Given the description of an element on the screen output the (x, y) to click on. 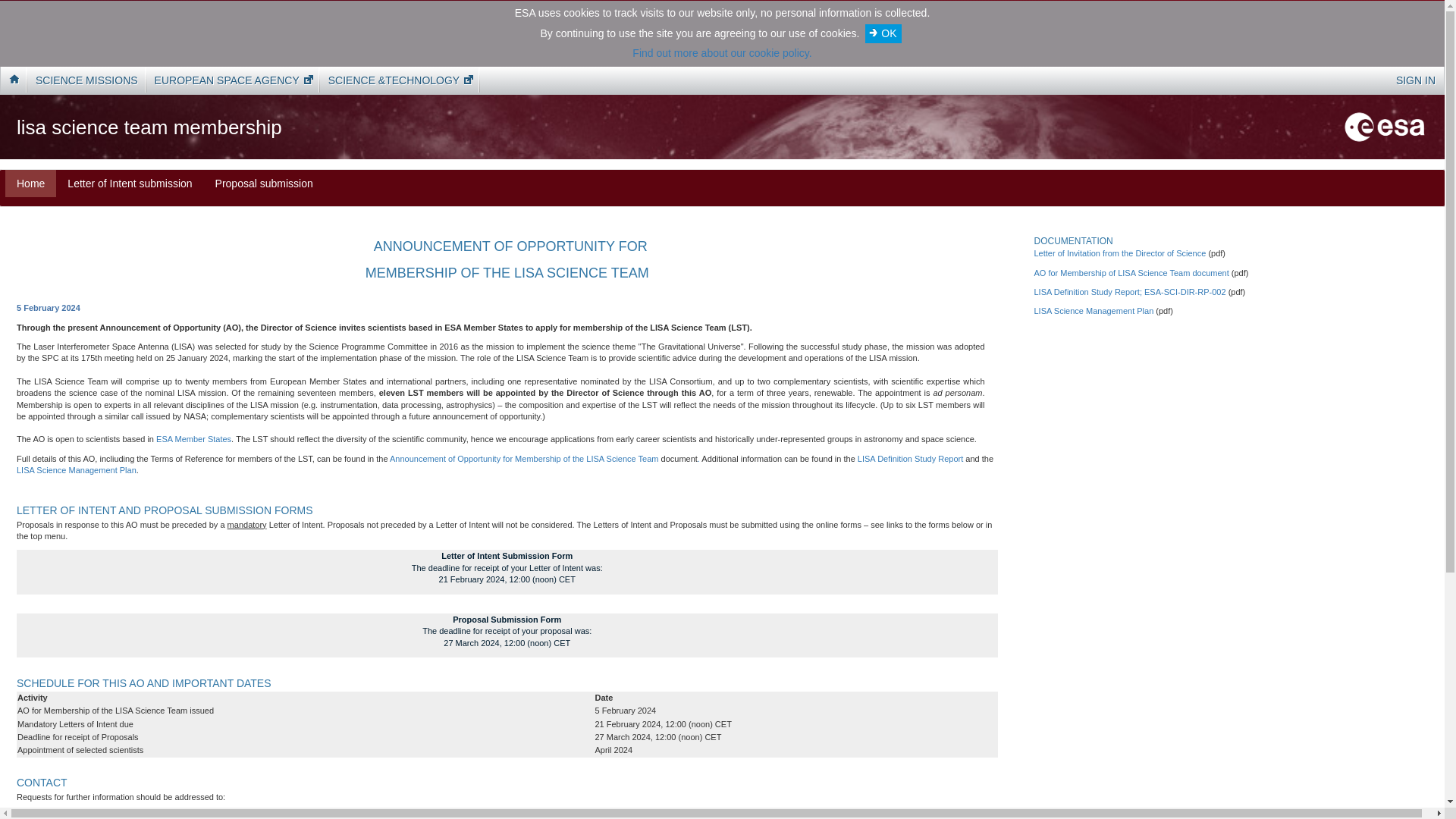
Our cookie policy (720, 52)
SCIENCE MISSIONS (87, 79)
Find out more about our cookie policy. (720, 52)
OK (882, 33)
